Given the description of an element on the screen output the (x, y) to click on. 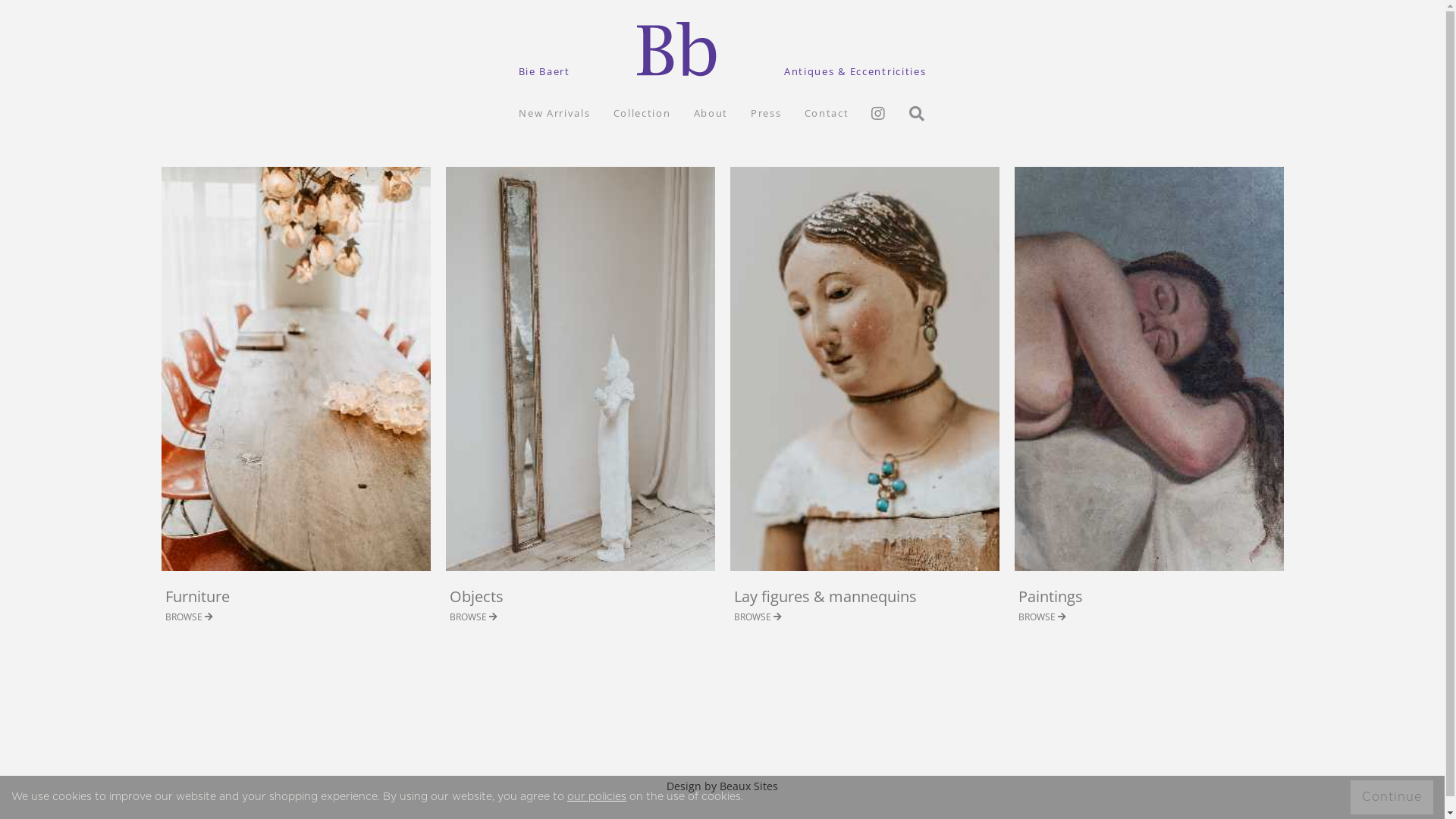
Contact Element type: text (826, 112)
Continue Element type: text (1391, 797)
our policies Element type: text (596, 796)
Paintings
BROWSE Element type: text (1148, 404)
Press Element type: text (766, 112)
Furniture
BROWSE Element type: text (294, 404)
Lay figures & mannequins
BROWSE Element type: text (863, 404)
About Element type: text (711, 112)
Collection Element type: text (642, 112)
Objects
BROWSE Element type: text (580, 404)
Design by Beaux Sites Element type: text (722, 780)
New Arrivals Element type: text (554, 112)
